Given the description of an element on the screen output the (x, y) to click on. 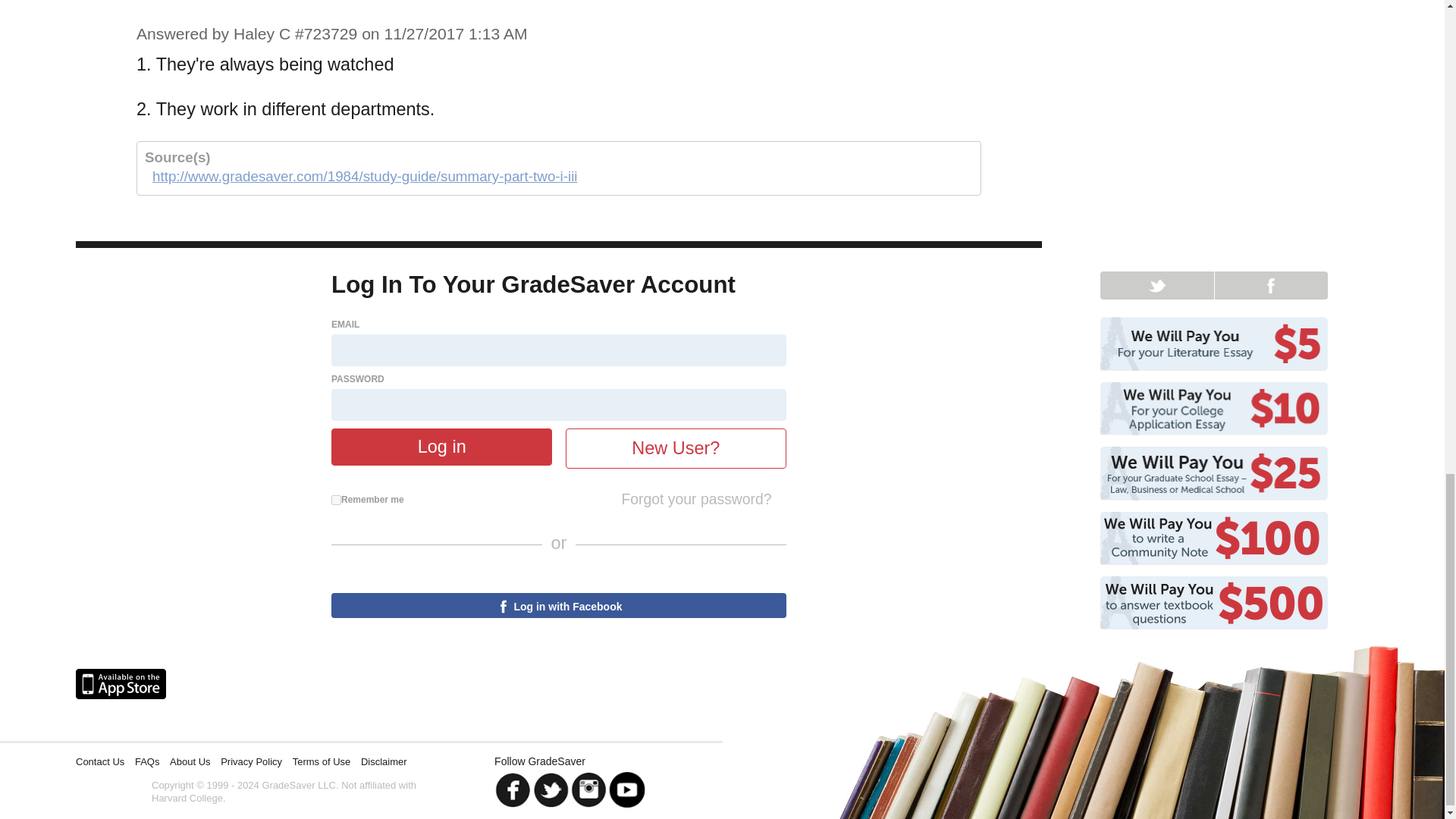
Contact Us (99, 761)
Log in (441, 447)
Log in with Facebook (558, 605)
1 (335, 500)
GradeSaver on the App Store (120, 684)
New User? (676, 448)
Log in (441, 447)
Forgot your password? (696, 498)
